Given the description of an element on the screen output the (x, y) to click on. 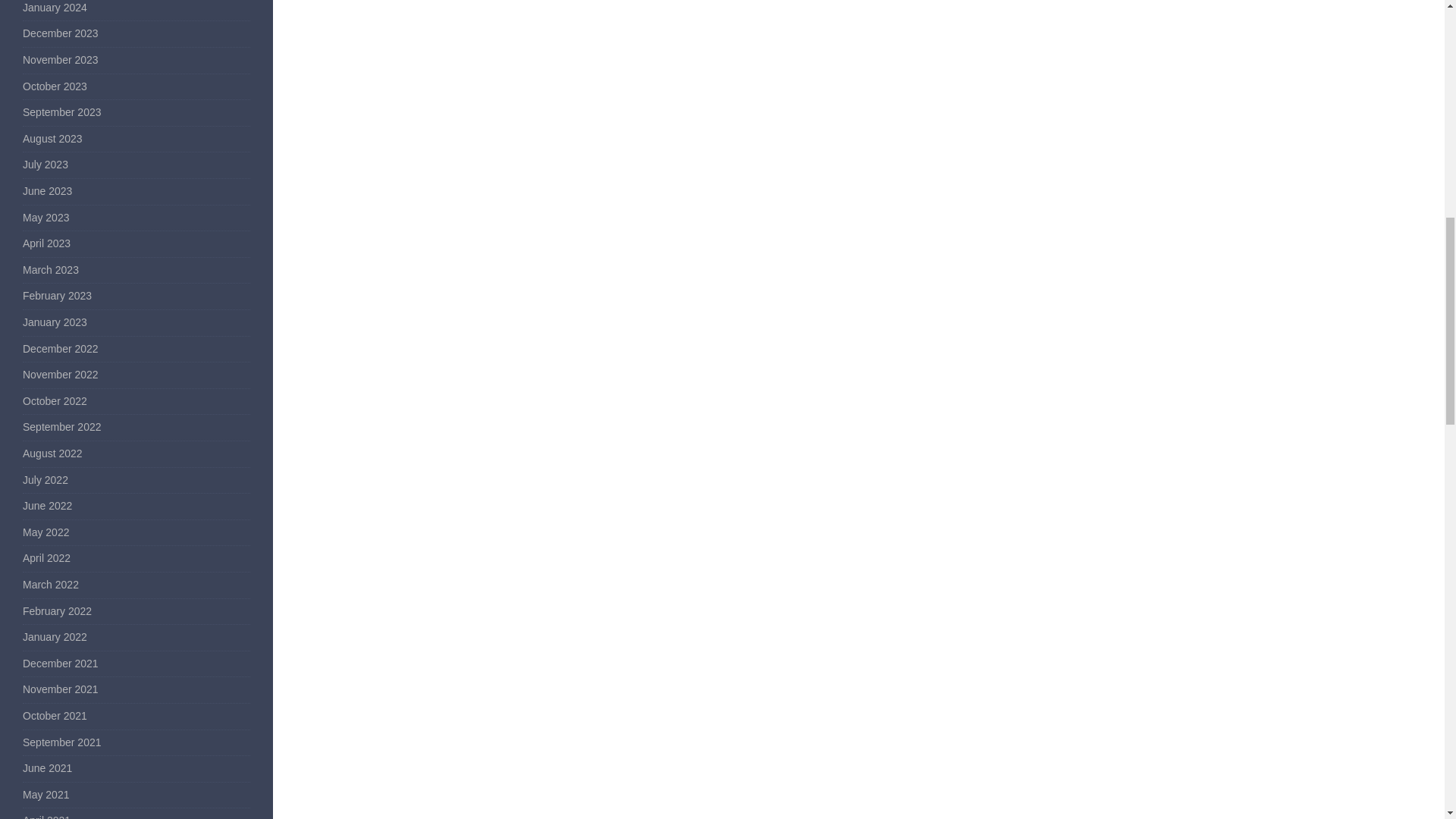
September 2022 (62, 426)
June 2023 (47, 191)
March 2022 (50, 584)
August 2023 (52, 138)
November 2022 (61, 374)
April 2023 (46, 243)
October 2022 (55, 400)
July 2022 (45, 480)
September 2023 (62, 111)
October 2023 (55, 86)
